Given the description of an element on the screen output the (x, y) to click on. 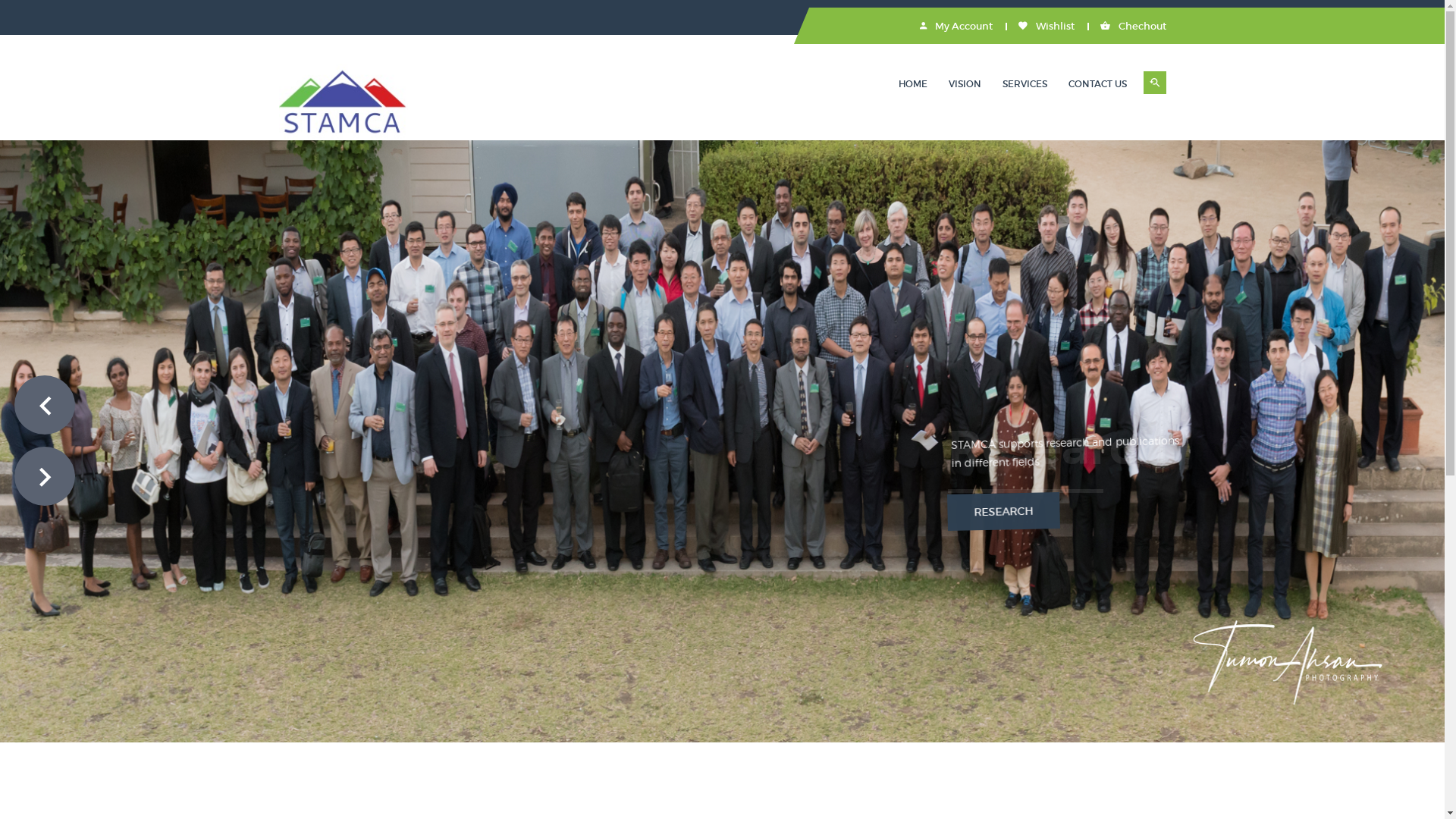
CONTACT US Element type: text (1096, 83)
RESEARCH Element type: text (985, 461)
HOME Element type: text (911, 83)
Chechout Element type: text (1132, 25)
SERVICES Element type: text (1024, 83)
My Account Element type: text (955, 25)
VISION Element type: text (963, 83)
Wishlist Element type: text (1045, 25)
